Given the description of an element on the screen output the (x, y) to click on. 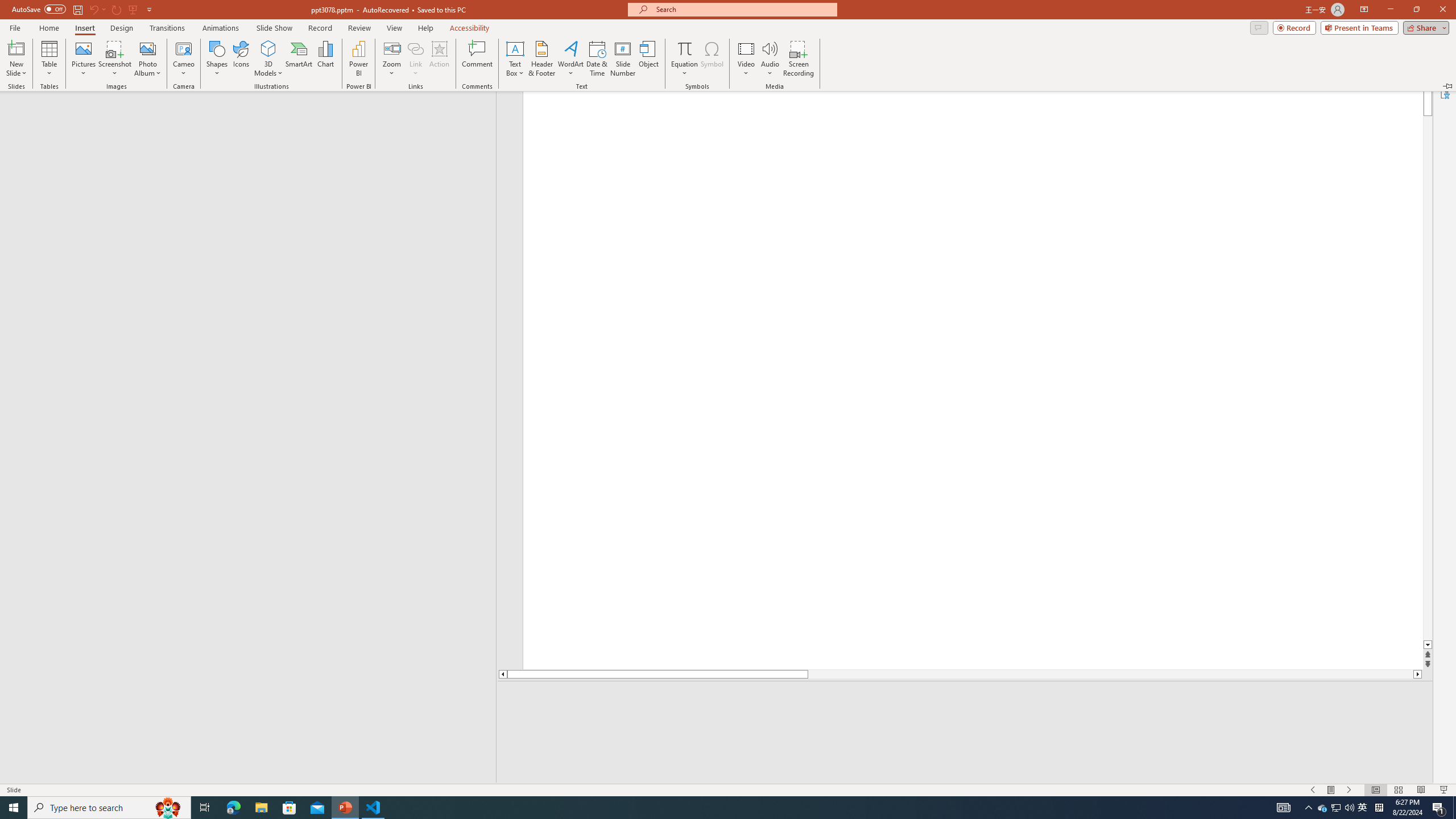
Slide Show Previous On (1313, 790)
Microsoft search (742, 9)
AutomationID: 4105 (1283, 807)
Slide Show Next On (1349, 790)
Type here to search (1322, 807)
